Given the description of an element on the screen output the (x, y) to click on. 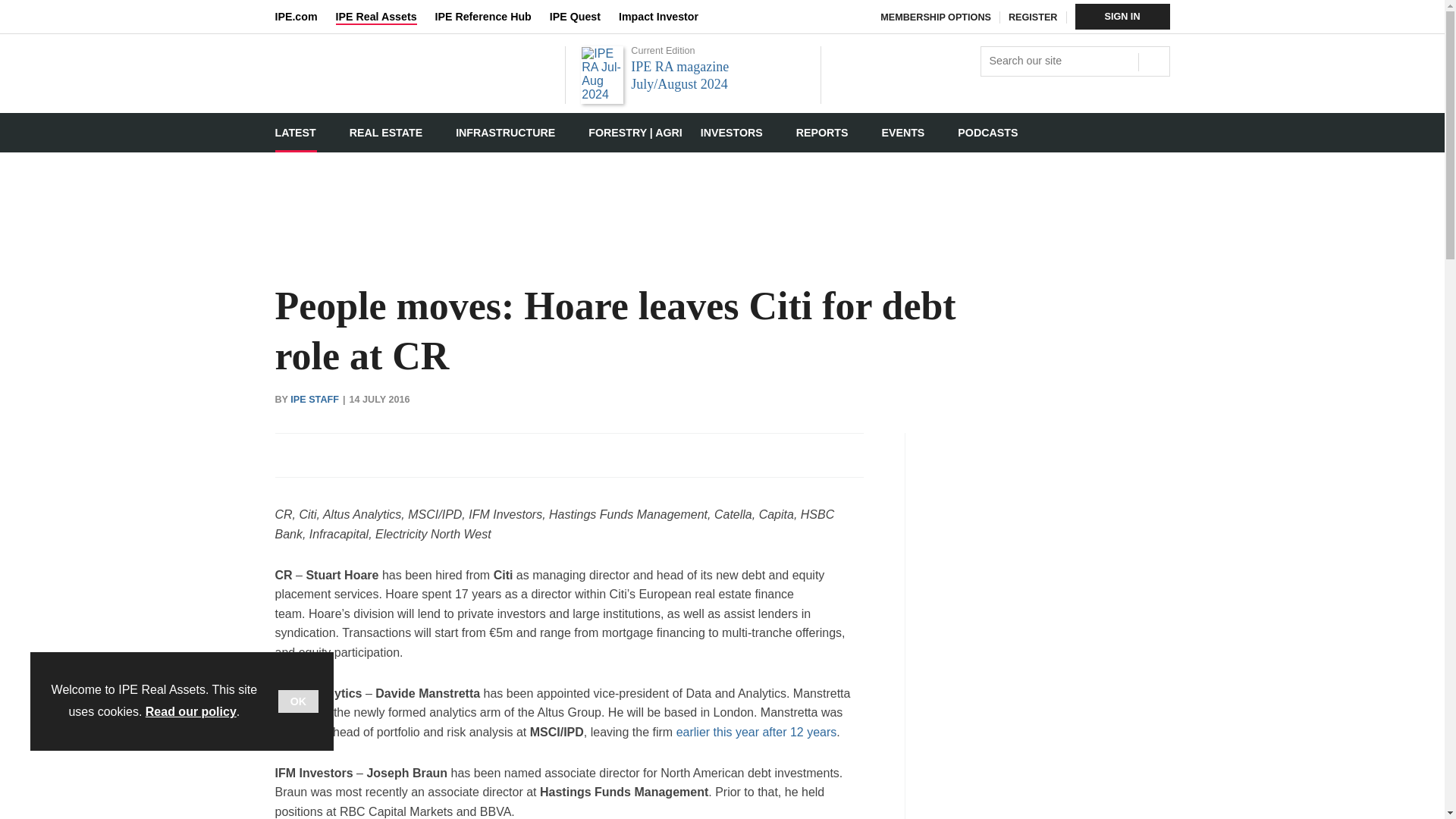
IPE Quest (583, 16)
REGISTER (1033, 17)
Share this on Linked in (352, 454)
Impact Investor (667, 16)
MEMBERSHIP OPTIONS (935, 17)
SEARCH (1152, 59)
SIGN IN (1122, 16)
Share this on Facebook (288, 454)
Real Assets (411, 98)
Email this article (386, 454)
